Given the description of an element on the screen output the (x, y) to click on. 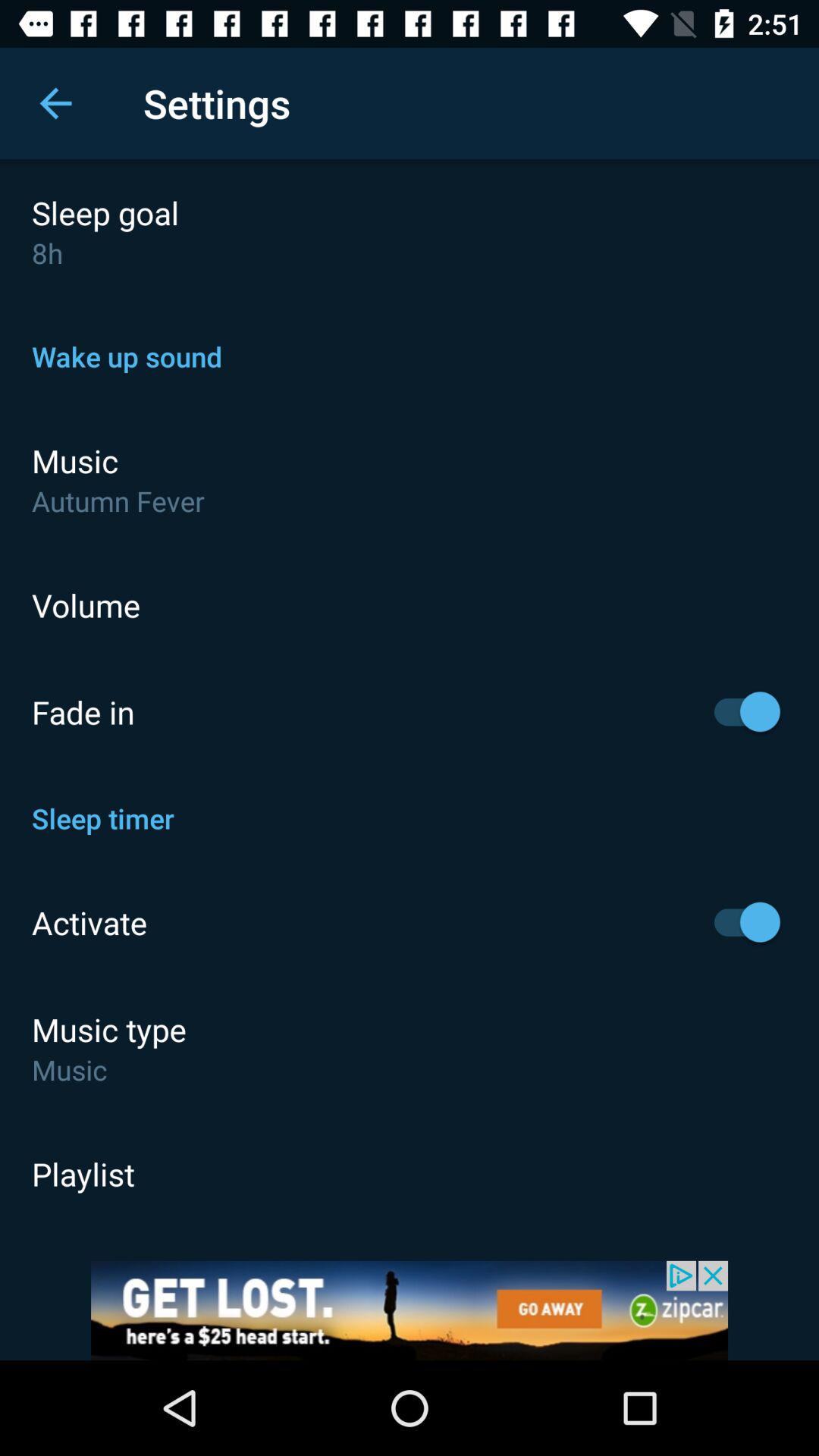
shows the advertisement tab (409, 1310)
